Given the description of an element on the screen output the (x, y) to click on. 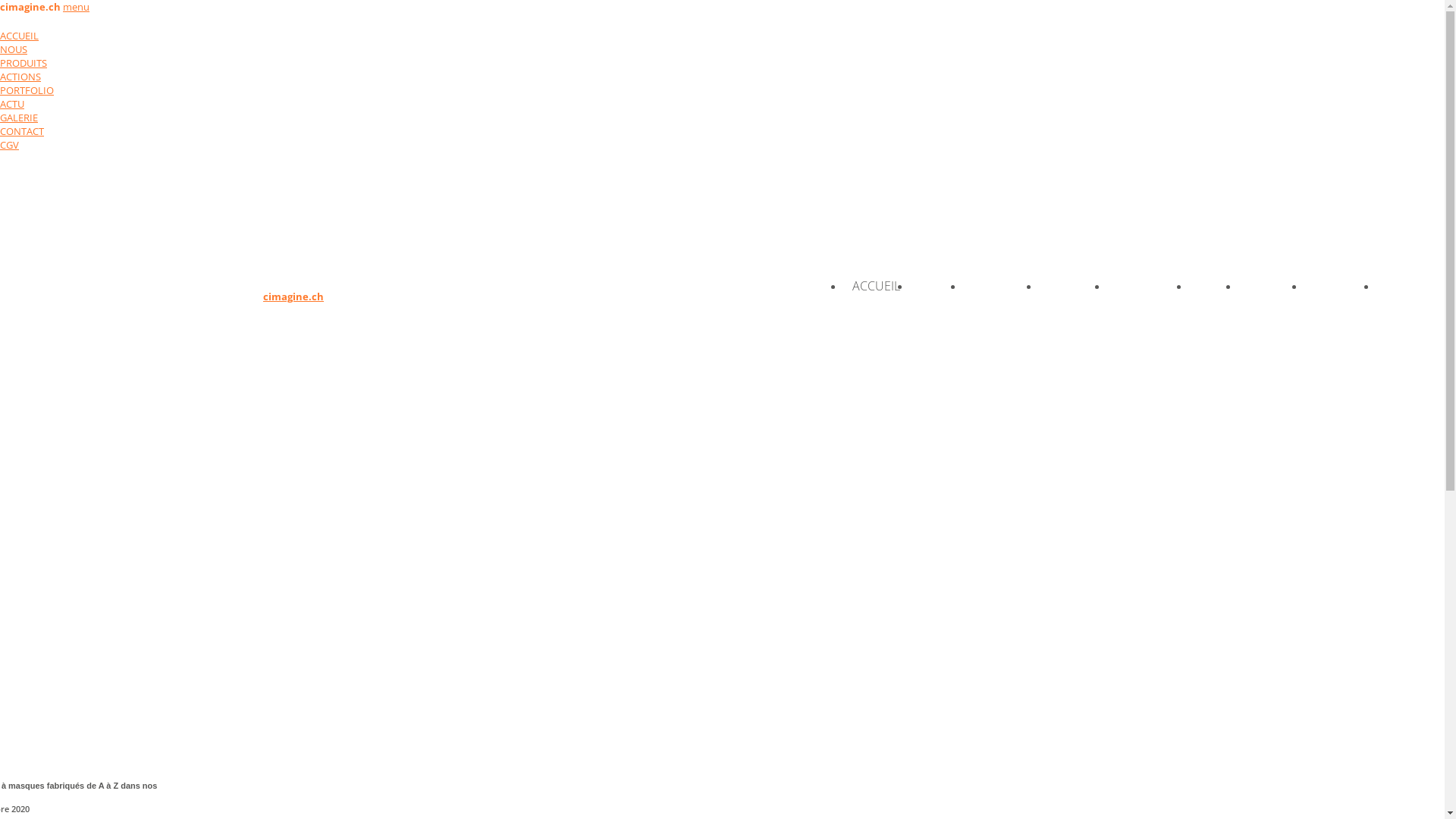
CONTACT Element type: text (1339, 286)
cimagine.ch Element type: text (30, 6)
ACCUEIL Element type: text (876, 286)
ACTU Element type: text (12, 103)
CGV Element type: text (1397, 286)
ACTU Element type: text (1213, 286)
PRODUITS Element type: text (23, 62)
ACCUEIL Element type: text (19, 35)
CGV Element type: text (9, 144)
PORTFOLIO Element type: text (1147, 286)
cimagine.ch Element type: text (172, 241)
ACTIONS Element type: text (1072, 286)
NOUS Element type: text (13, 49)
GALERIE Element type: text (1270, 286)
menu Element type: text (75, 6)
CONTACT Element type: text (21, 131)
ACTIONS Element type: text (20, 76)
PORTFOLIO Element type: text (26, 90)
PRODUITS Element type: text (1000, 286)
GALERIE Element type: text (18, 117)
NOUS Element type: text (936, 286)
